Given the description of an element on the screen output the (x, y) to click on. 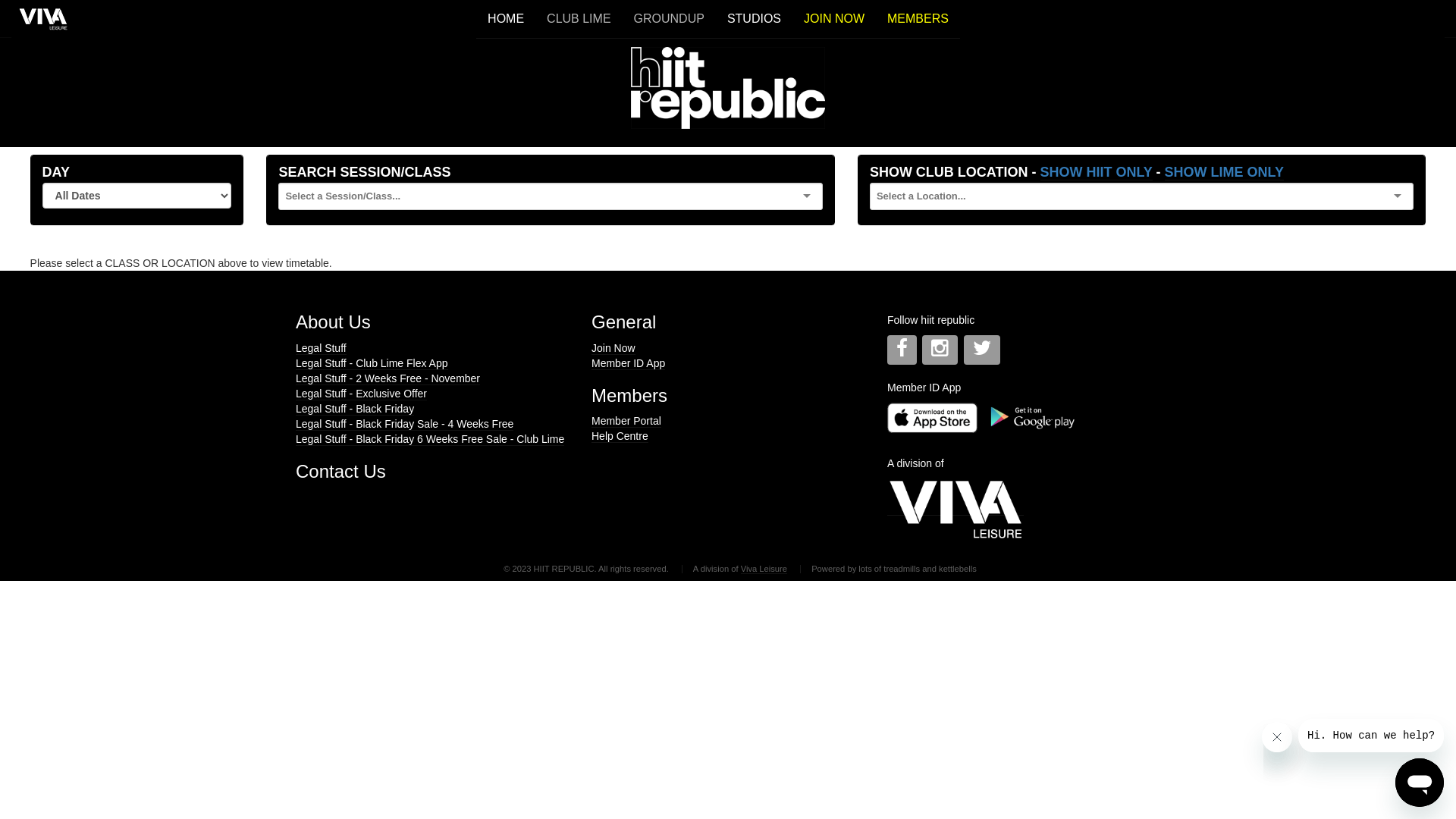
Close message Element type: hover (1276, 736)
Help Centre Element type: text (619, 435)
MEMBERS Element type: text (917, 19)
JOIN NOW Element type: text (833, 19)
Member Portal Element type: text (626, 420)
Legal Stuff - Club Lime Flex App Element type: text (371, 363)
SHOW LIME ONLY Element type: text (1223, 172)
Viva Leisure Element type: text (763, 569)
Button to launch messaging window Element type: hover (1419, 782)
Message from company Element type: hover (1370, 735)
SHOW HIIT ONLY Element type: text (1096, 172)
Contact Us Element type: text (340, 471)
STUDIOS Element type: text (753, 19)
Member ID App Element type: text (628, 363)
GROUNDUP Element type: text (668, 19)
Legal Stuff Element type: text (320, 348)
Legal Stuff - Black Friday Element type: text (354, 408)
Legal Stuff - Black Friday Sale - 4 Weeks Free Element type: text (404, 423)
HOME Element type: text (505, 19)
Legal Stuff - 2 Weeks Free - November Element type: text (387, 378)
Join Now Element type: text (613, 348)
Legal Stuff - Black Friday 6 Weeks Free Sale - Club Lime Element type: text (429, 439)
CLUB LIME Element type: text (578, 19)
Legal Stuff - Exclusive Offer Element type: text (360, 393)
About Us Element type: text (431, 322)
